Given the description of an element on the screen output the (x, y) to click on. 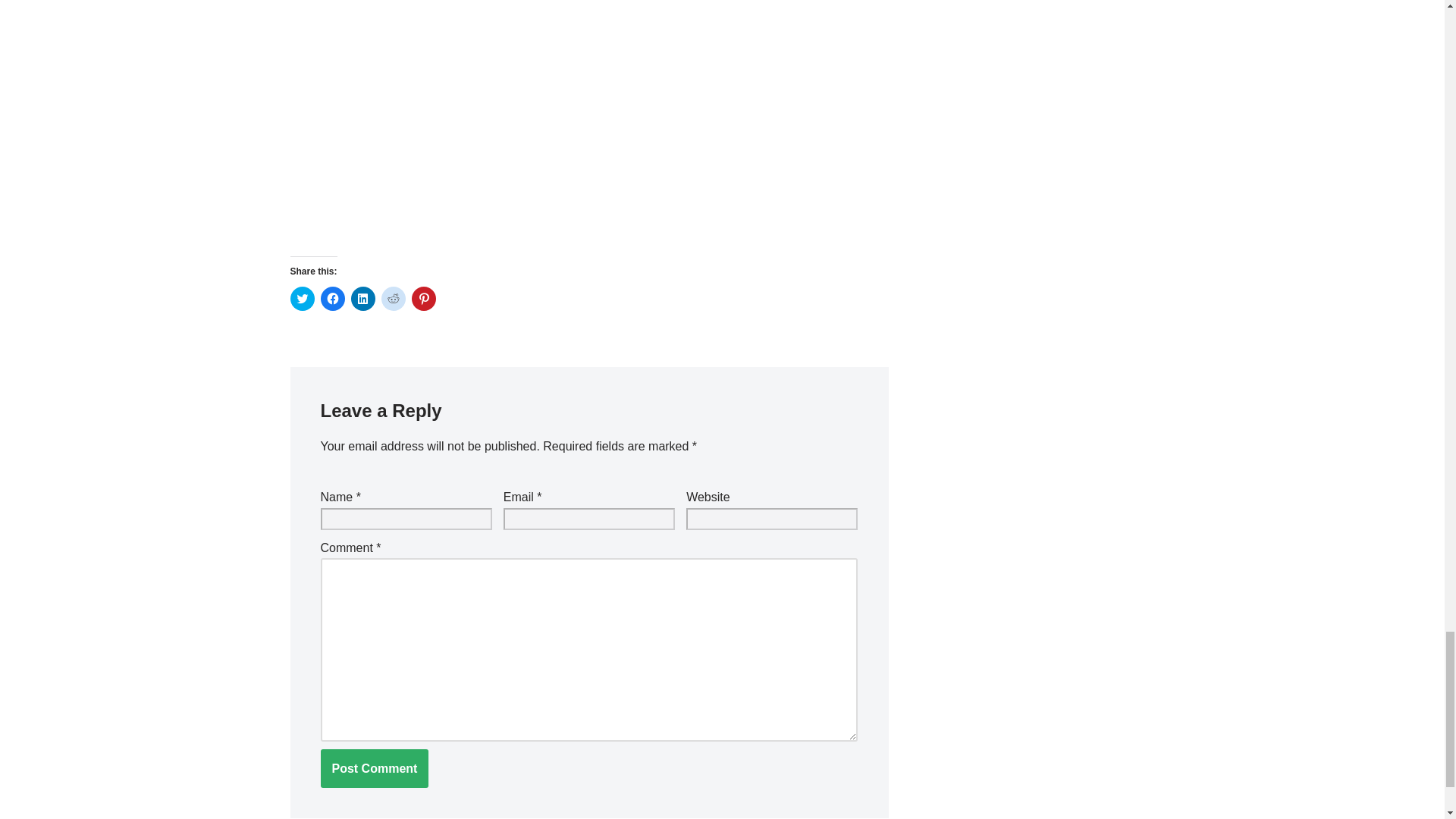
Click to share on Pinterest (422, 298)
Click to share on Twitter (301, 298)
Click to share on LinkedIn (362, 298)
Click to share on Reddit (392, 298)
Post Comment (374, 768)
Click to share on Facebook (331, 298)
